Given the description of an element on the screen output the (x, y) to click on. 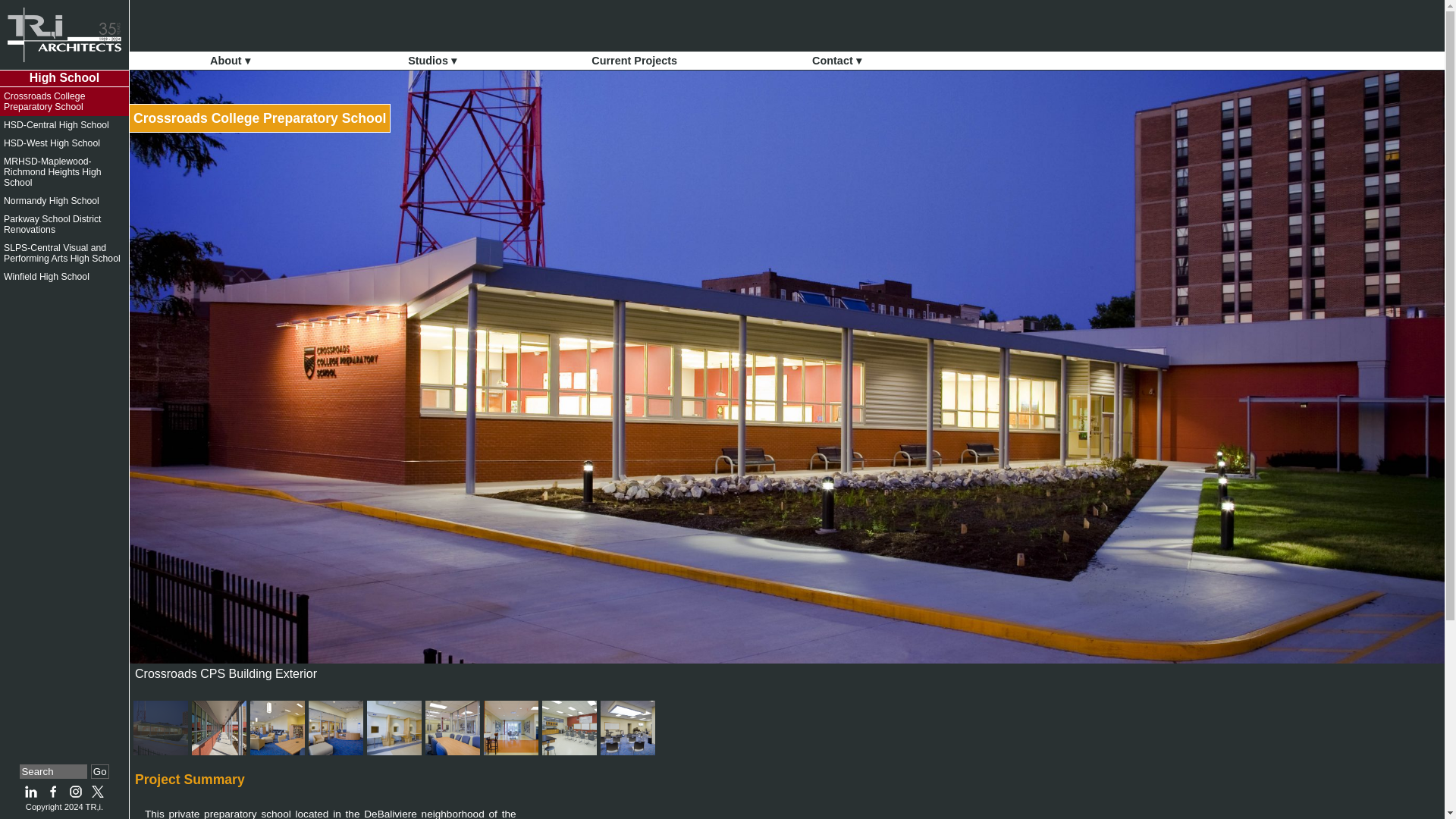
Return to the home page (64, 34)
Permalink to Crossroads College Preparatory School (259, 118)
